Given the description of an element on the screen output the (x, y) to click on. 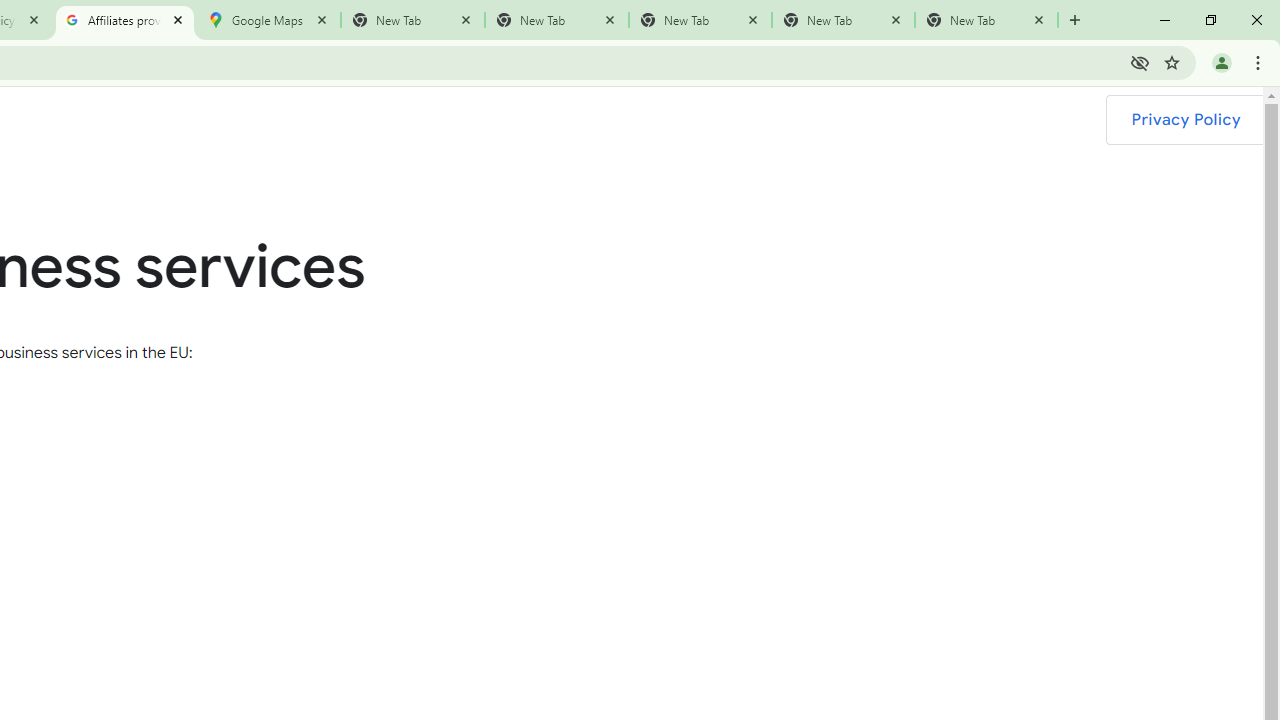
Third-party cookies blocked (1139, 62)
Affiliates providing business services (124, 20)
Privacy Policy (1185, 119)
New Tab (986, 20)
Google Maps (268, 20)
